Given the description of an element on the screen output the (x, y) to click on. 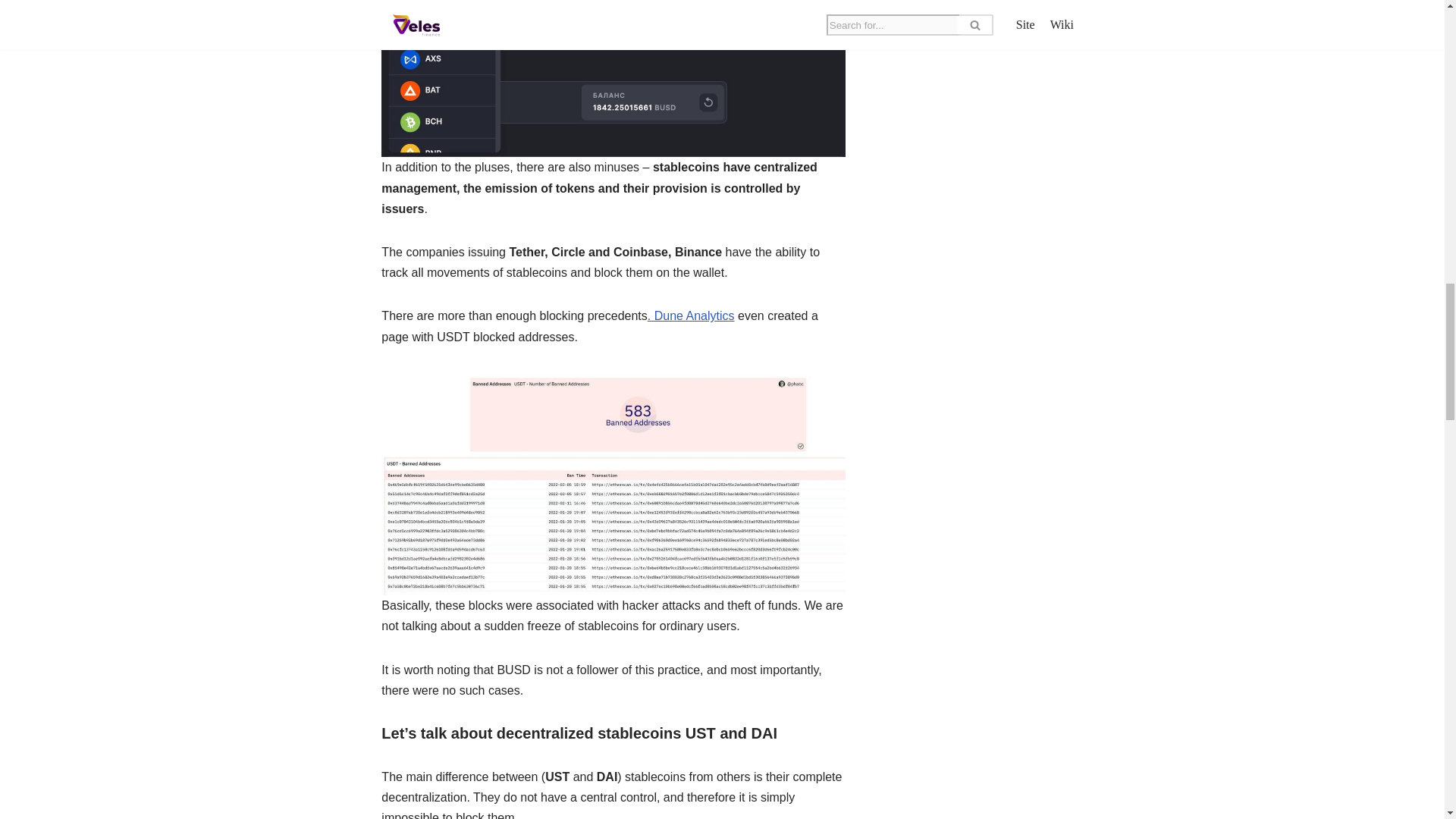
. Dune Analytics (691, 315)
